Given the description of an element on the screen output the (x, y) to click on. 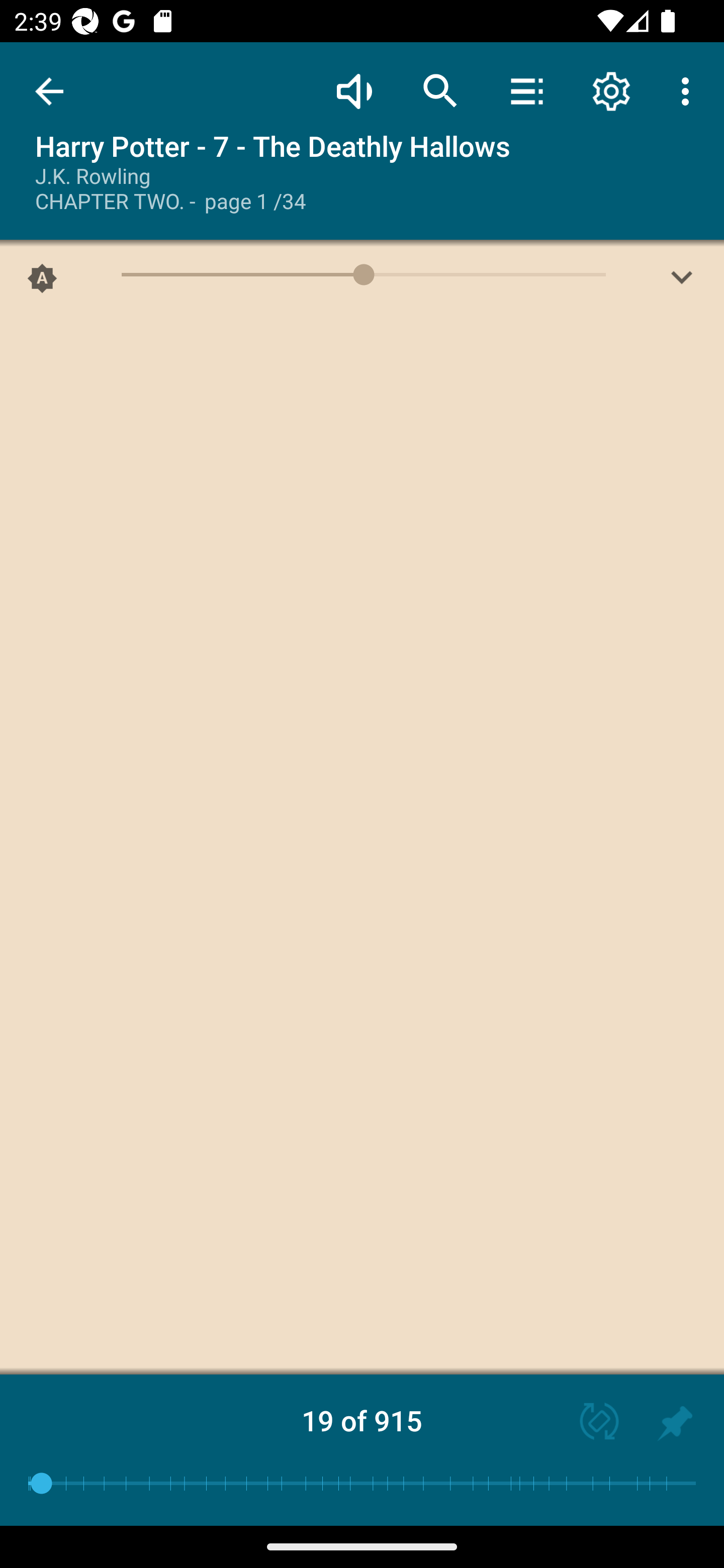
Exit reading (49, 91)
Read aloud (354, 90)
Text search (440, 90)
Contents / Bookmarks / Quotes (526, 90)
Reading settings (611, 90)
More options (688, 90)
Selected screen brightness (42, 281)
Screen brightness settings (681, 281)
19 of 915 (361, 1420)
Screen orientation (590, 1423)
Add to history (674, 1423)
